Given the description of an element on the screen output the (x, y) to click on. 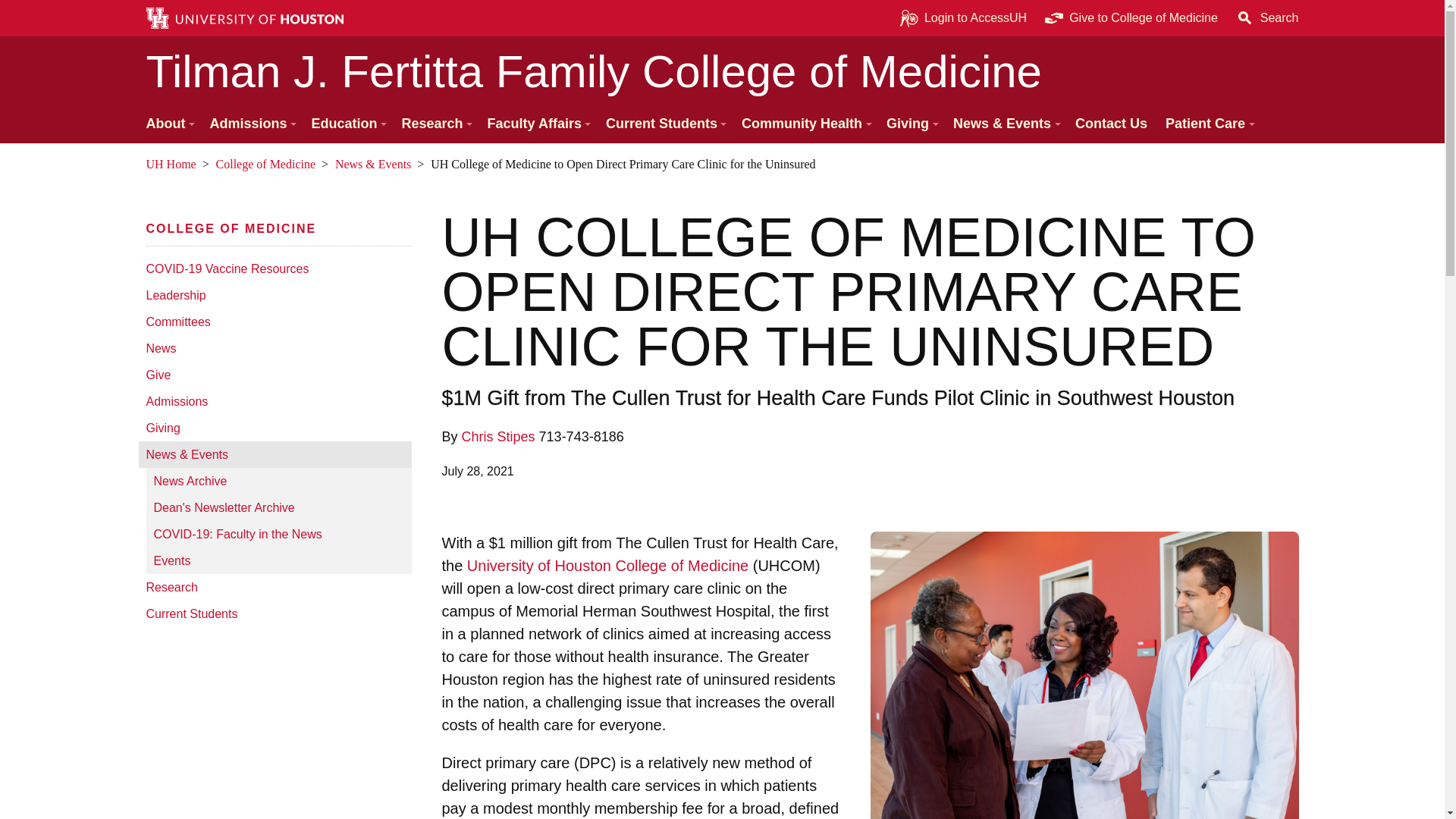
About (168, 123)
Education (347, 123)
Login to AccessUH (963, 18)
Tilman J. Fertitta Family College of Medicine (721, 71)
Giving (274, 427)
College of Medicine (230, 228)
Current Students (274, 613)
Admissions (250, 123)
COVID-19: Faculty in the News (277, 533)
Research (274, 587)
Give to College of Medicine (1131, 18)
News (274, 347)
Give (274, 374)
Events (277, 560)
Committees (274, 321)
